Given the description of an element on the screen output the (x, y) to click on. 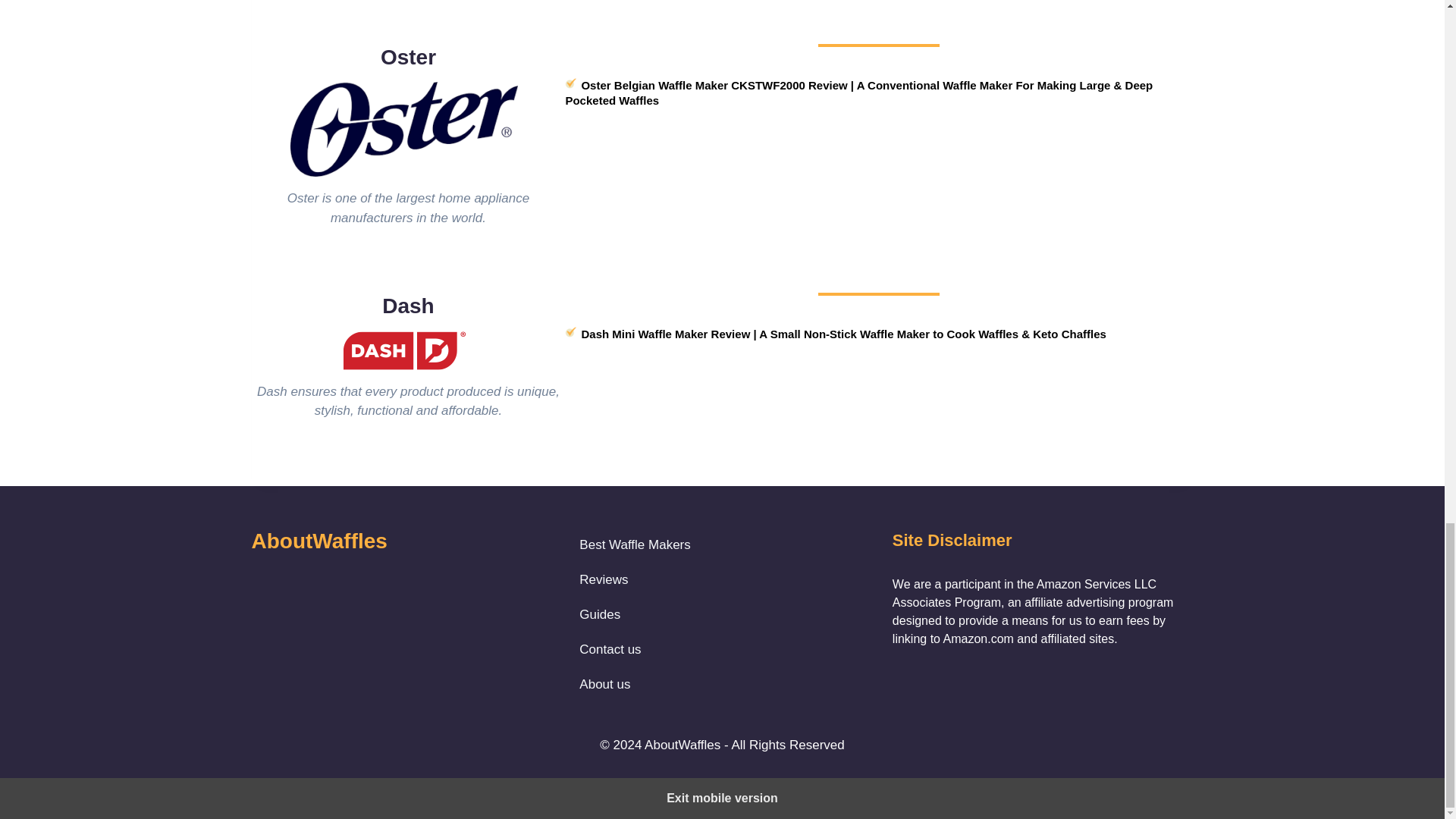
Guides (635, 614)
About us (635, 683)
Best Waffle Makers (635, 544)
Reviews (635, 579)
Contact us (635, 648)
